Given the description of an element on the screen output the (x, y) to click on. 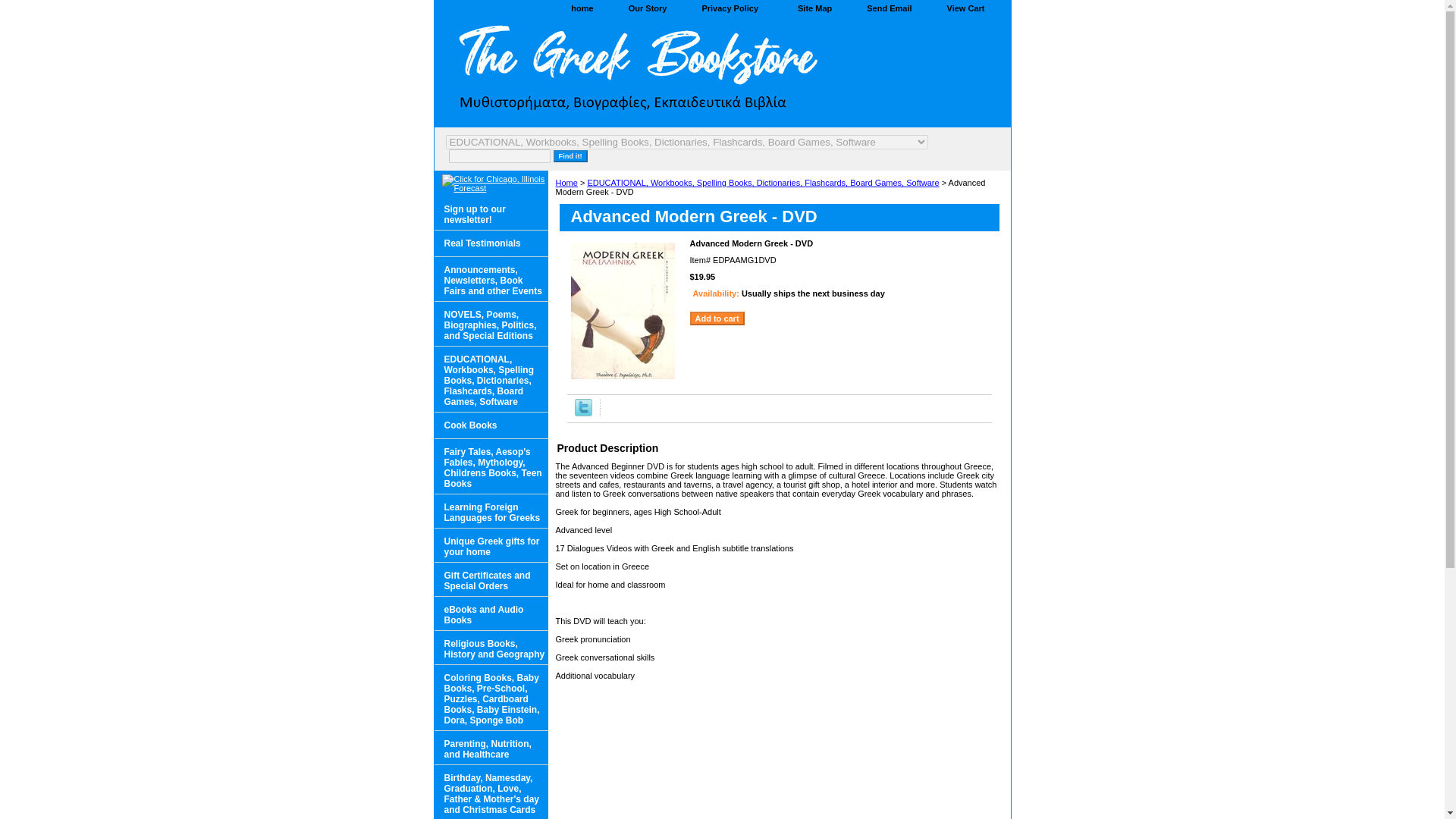
Announcements, Newsletters, Book Fairs and other Events (490, 279)
home (582, 8)
Find it! (570, 155)
Find it! (570, 155)
Cook Books (490, 425)
Add to cart (717, 318)
Our Story (647, 8)
Add to cart (717, 318)
View Cart (965, 8)
Privacy Policy (729, 8)
Home (565, 182)
Parenting, Nutrition, and Healthcare (490, 747)
Sign up to our newsletter! (490, 213)
Unique Greek gifts for your home (490, 545)
